Given the description of an element on the screen output the (x, y) to click on. 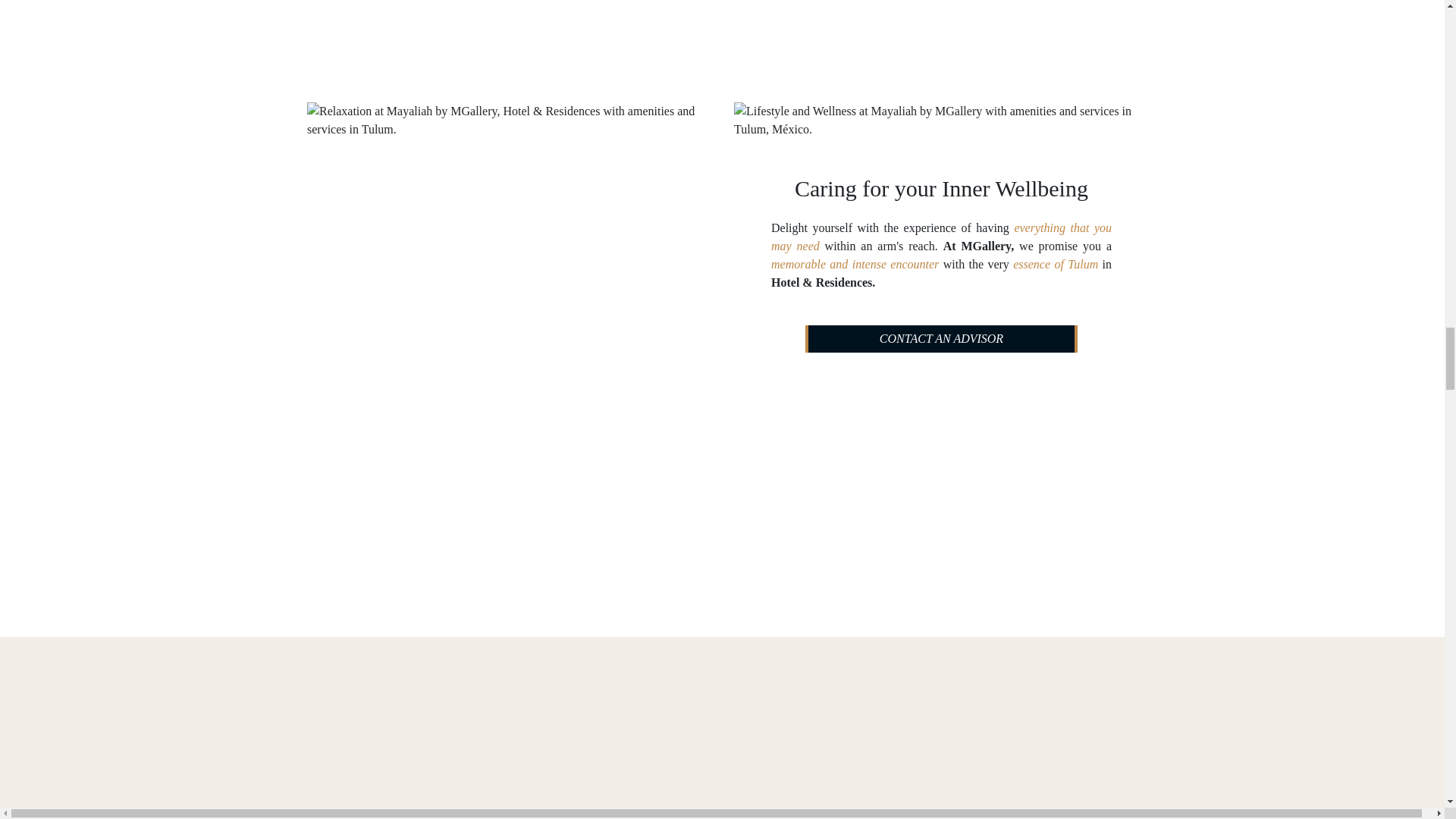
Lifestyle at Mayaliah Residences by  MGallery in Tulum. (514, 227)
Wellness at Mayaliah Residences by  MGallery in Tulum. (940, 120)
CONTACT AN ADVISOR (941, 338)
